Given the description of an element on the screen output the (x, y) to click on. 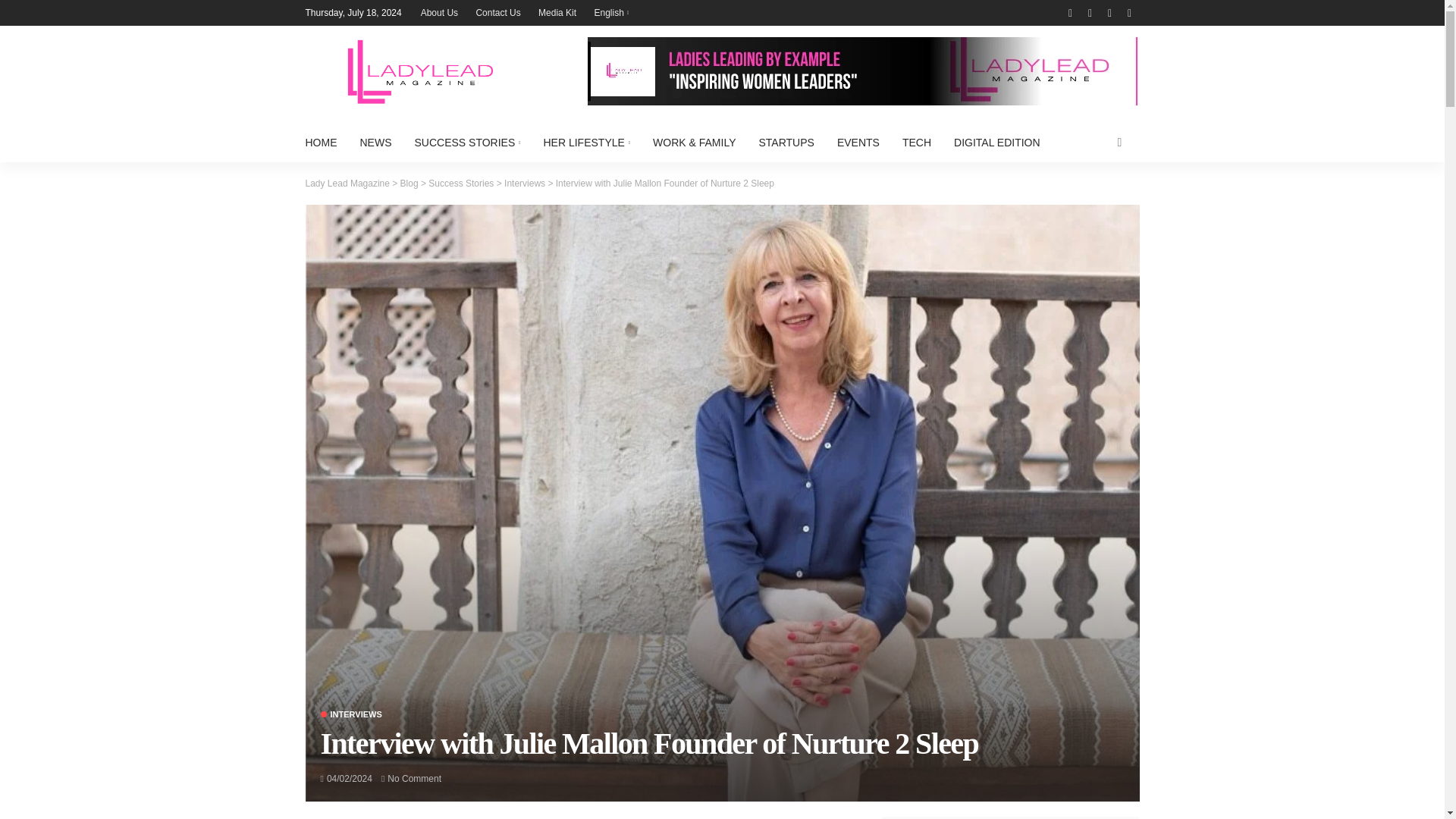
HOME (325, 142)
Contact Us (497, 12)
English (611, 12)
About Us (439, 12)
Media Kit (557, 12)
